Given the description of an element on the screen output the (x, y) to click on. 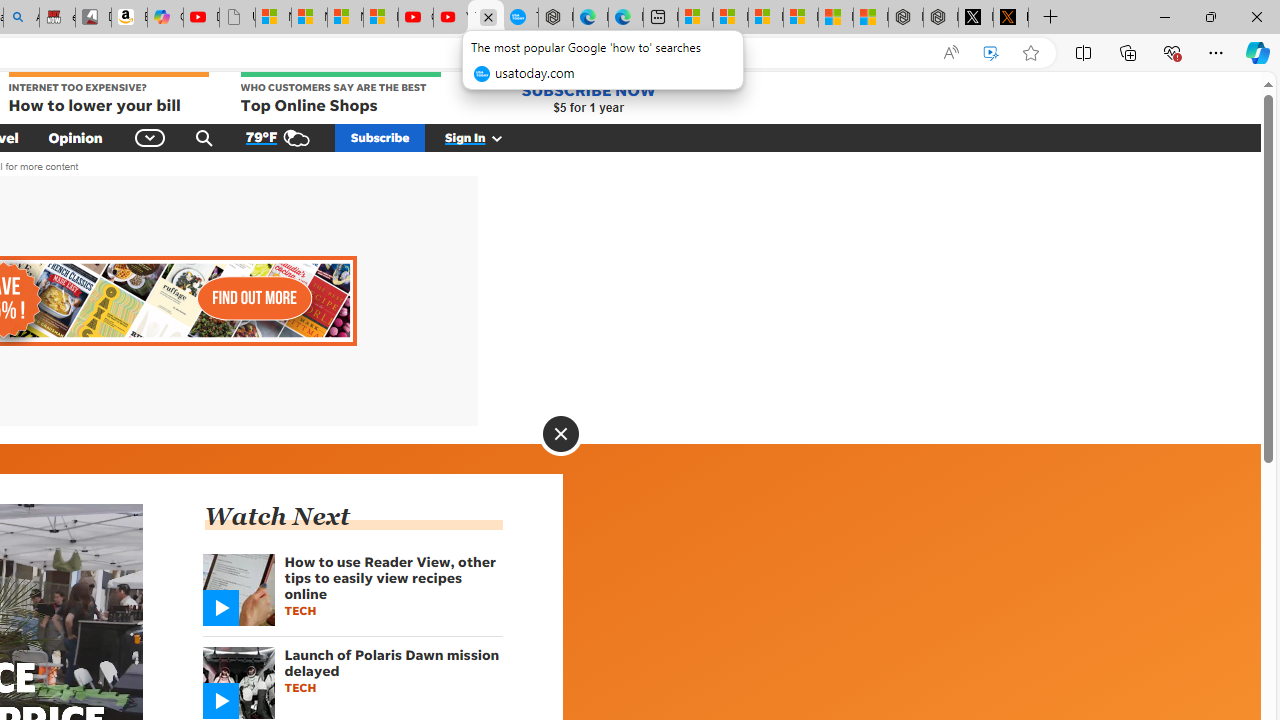
SUBSCRIBE NOW $5 for 1 year (588, 97)
Enhance video (991, 53)
Class: gnt_rc_svg (220, 701)
help.x.com | 524: A timeout occurred (1010, 17)
INTERNET TOO EXPENSIVE? How to lower your bill (107, 94)
